Given the description of an element on the screen output the (x, y) to click on. 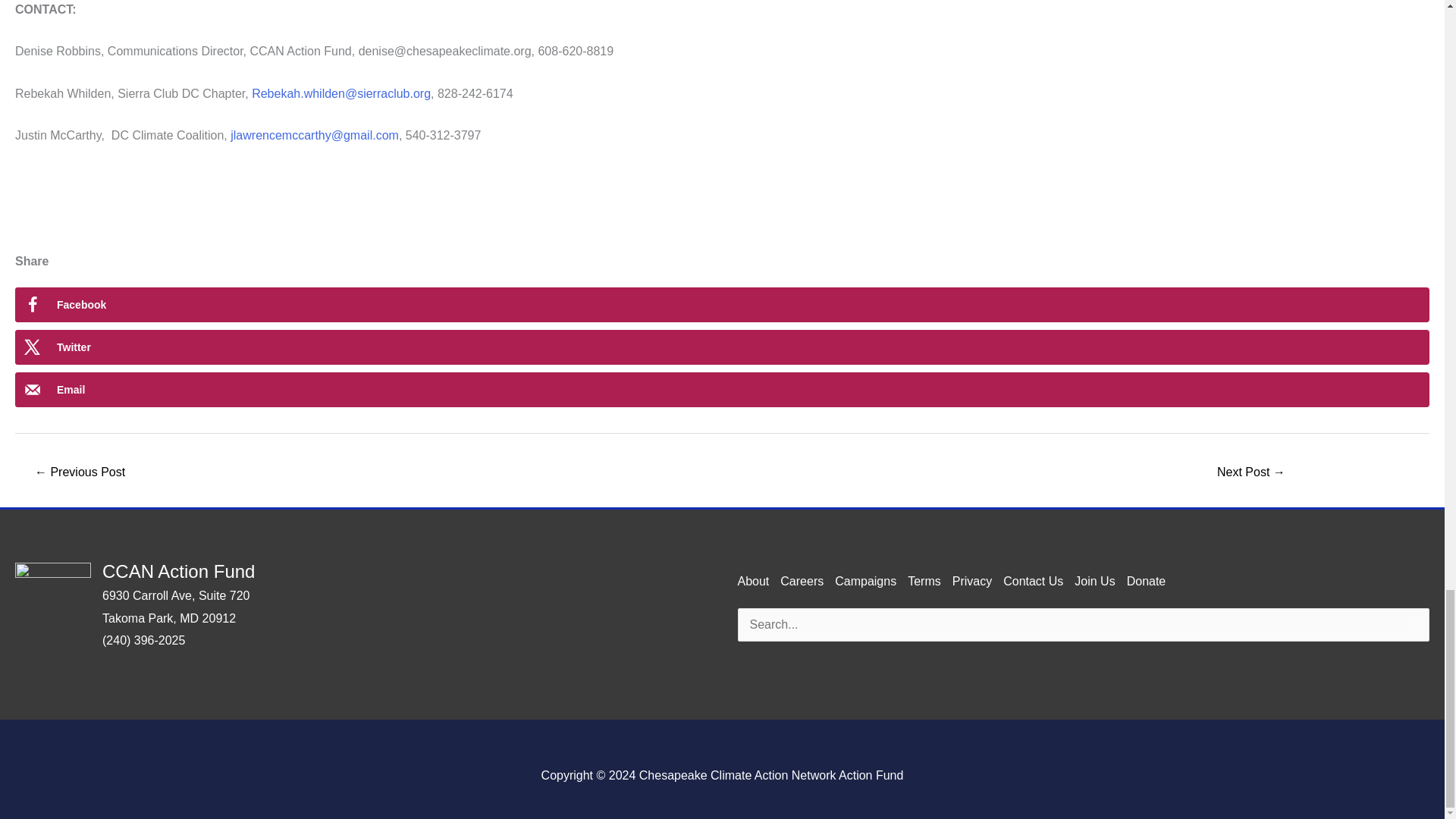
About (752, 581)
Email (721, 389)
Facebook (721, 304)
Share on Facebook (721, 304)
Twitter (721, 347)
Florence: Spotlight on Va Coastal Protection Policy (79, 473)
Send over email (721, 389)
Careers (802, 581)
Share on X (721, 347)
